Given the description of an element on the screen output the (x, y) to click on. 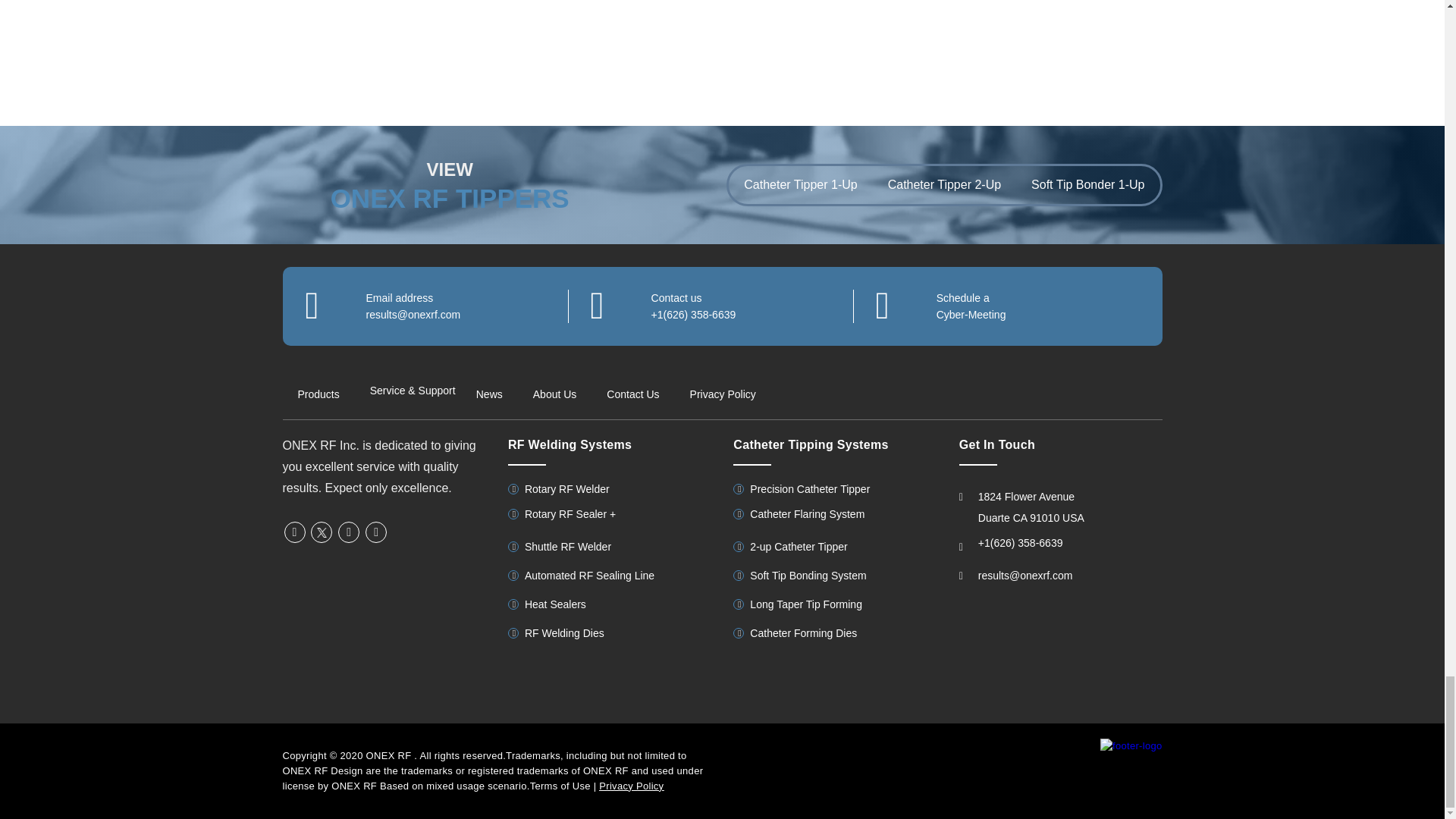
Products (317, 393)
Twitter (321, 531)
footer-logo (1130, 744)
Linkedin (348, 531)
Catheter Tipper 2-Up (944, 184)
Facebook (293, 531)
Catheter Tipper 1-Up (800, 184)
Pinterest (376, 531)
Soft Tip Bonder 1-Up (1087, 184)
Cyber-Meeting (971, 314)
